Given the description of an element on the screen output the (x, y) to click on. 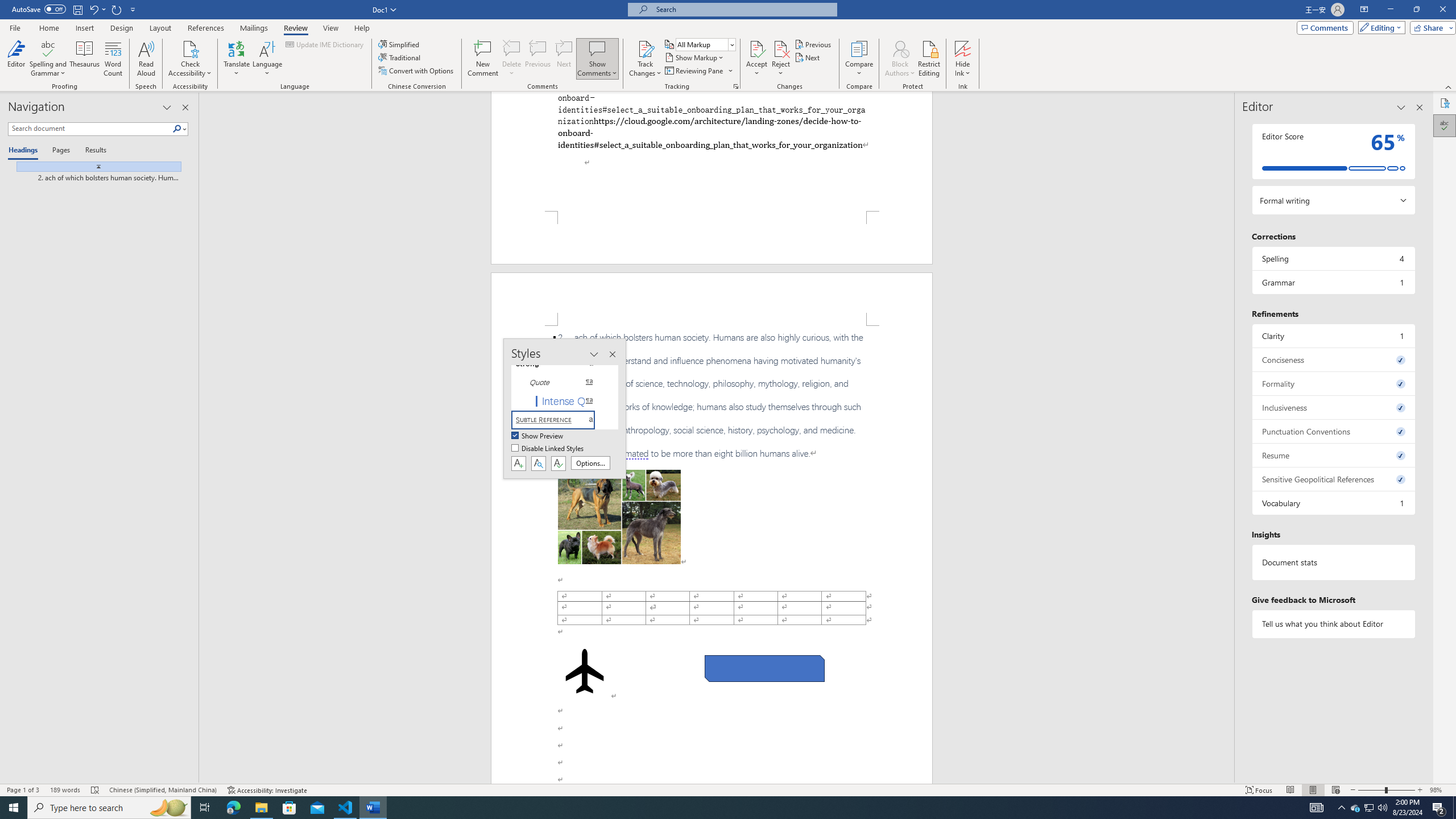
Reject and Move to Next (780, 48)
Spelling and Grammar (48, 48)
Review (295, 28)
Morphological variation in six dogs (619, 517)
Language Chinese (Simplified, Mainland China) (162, 790)
Display for Review (705, 44)
Class: NetUIScrollBar (1229, 437)
New Comment (482, 58)
Undo Style (92, 9)
